Given the description of an element on the screen output the (x, y) to click on. 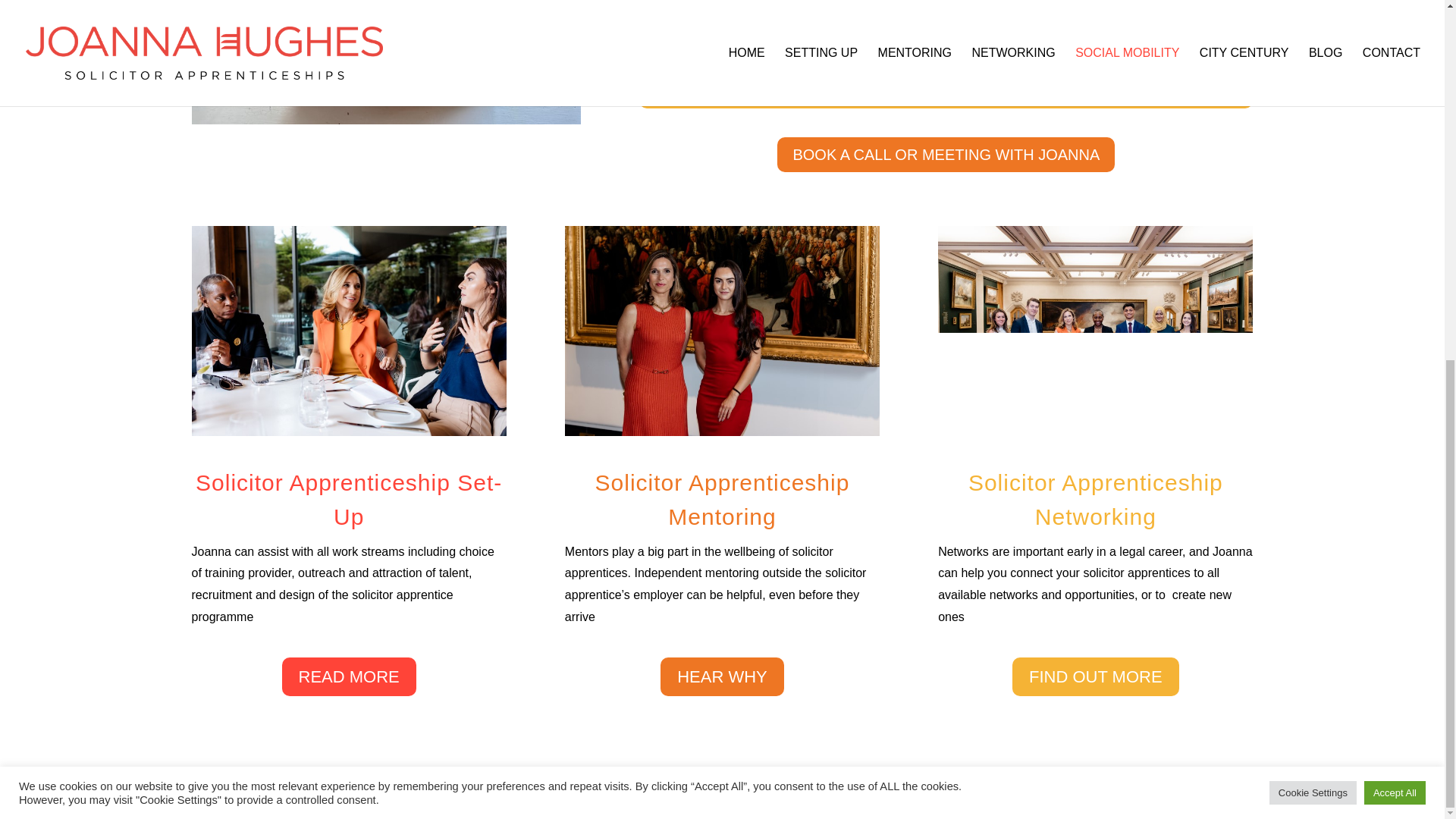
Sitemap (630, 796)
Social Mobility Joanna Hughes (385, 61)
Accept All (1394, 154)
Cookie Settings (1312, 154)
READ MORE (349, 676)
FIND OUT MORE (1095, 676)
HEAR WHY (722, 676)
here! (996, 2)
Solicitor Apprenticeship Networking (1094, 330)
Terms  (552, 796)
BOOK A CALL OR MEETING WITH JOANNA (946, 154)
Privacy  (590, 796)
Solicitor Apprenticeship Set Up (347, 330)
BYBO Design (685, 796)
Solicitor Apprenticeship Mentoring (721, 330)
